Given the description of an element on the screen output the (x, y) to click on. 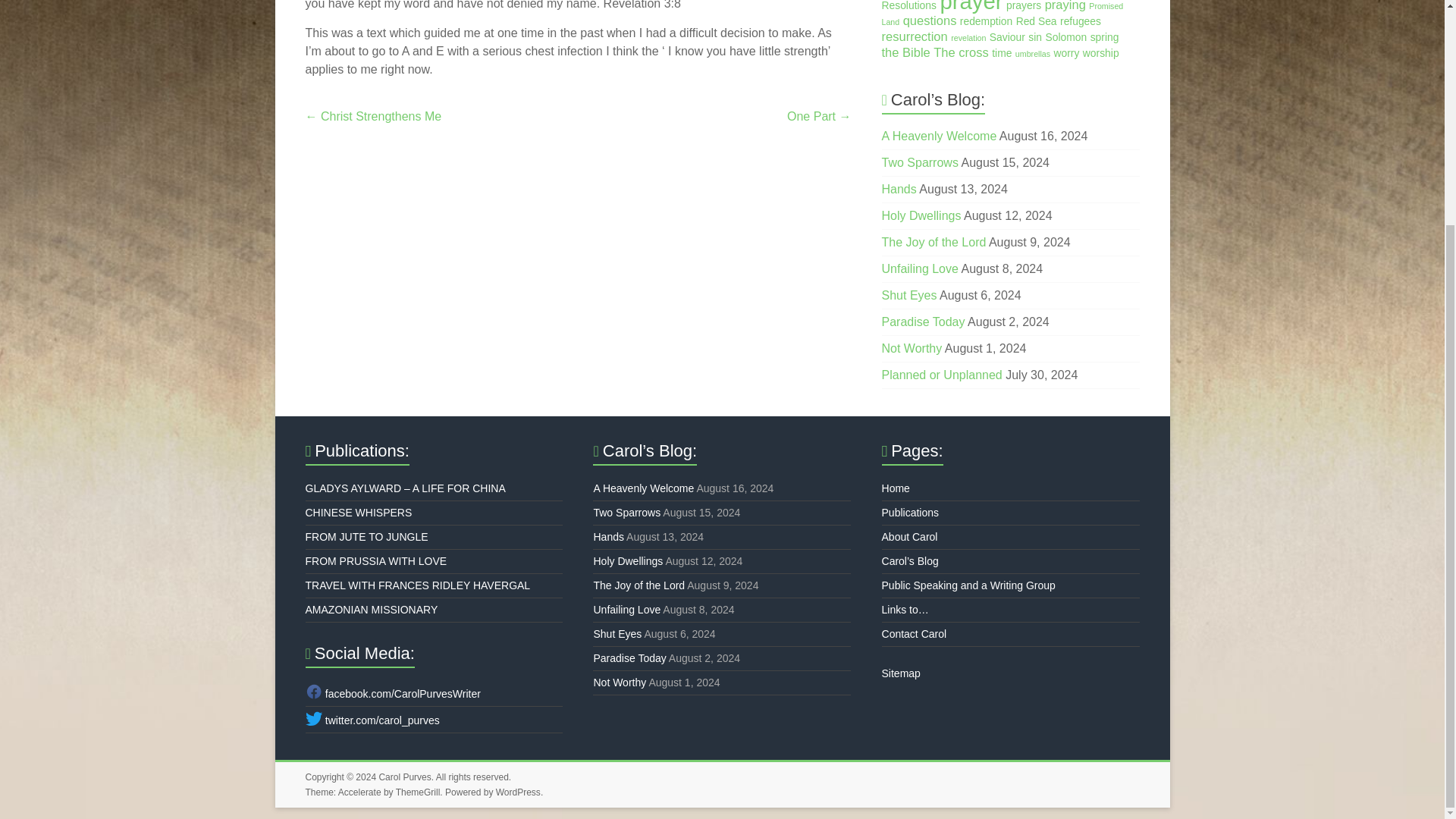
WordPress (518, 792)
Carol Purves (404, 777)
Accelerate (359, 792)
